Given the description of an element on the screen output the (x, y) to click on. 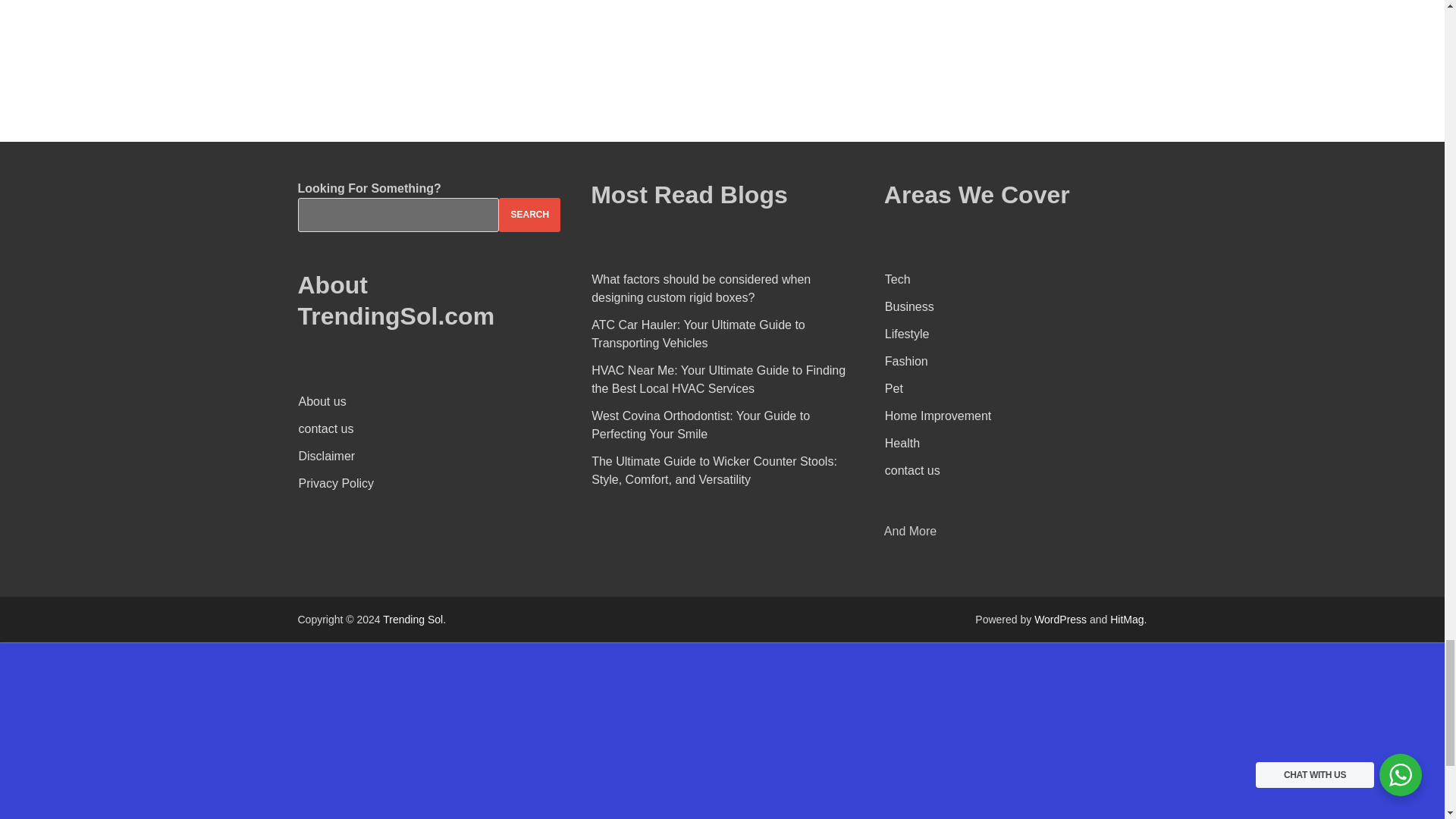
Trending Sol (412, 619)
WordPress (1059, 619)
HitMag WordPress Theme (1125, 619)
